Given the description of an element on the screen output the (x, y) to click on. 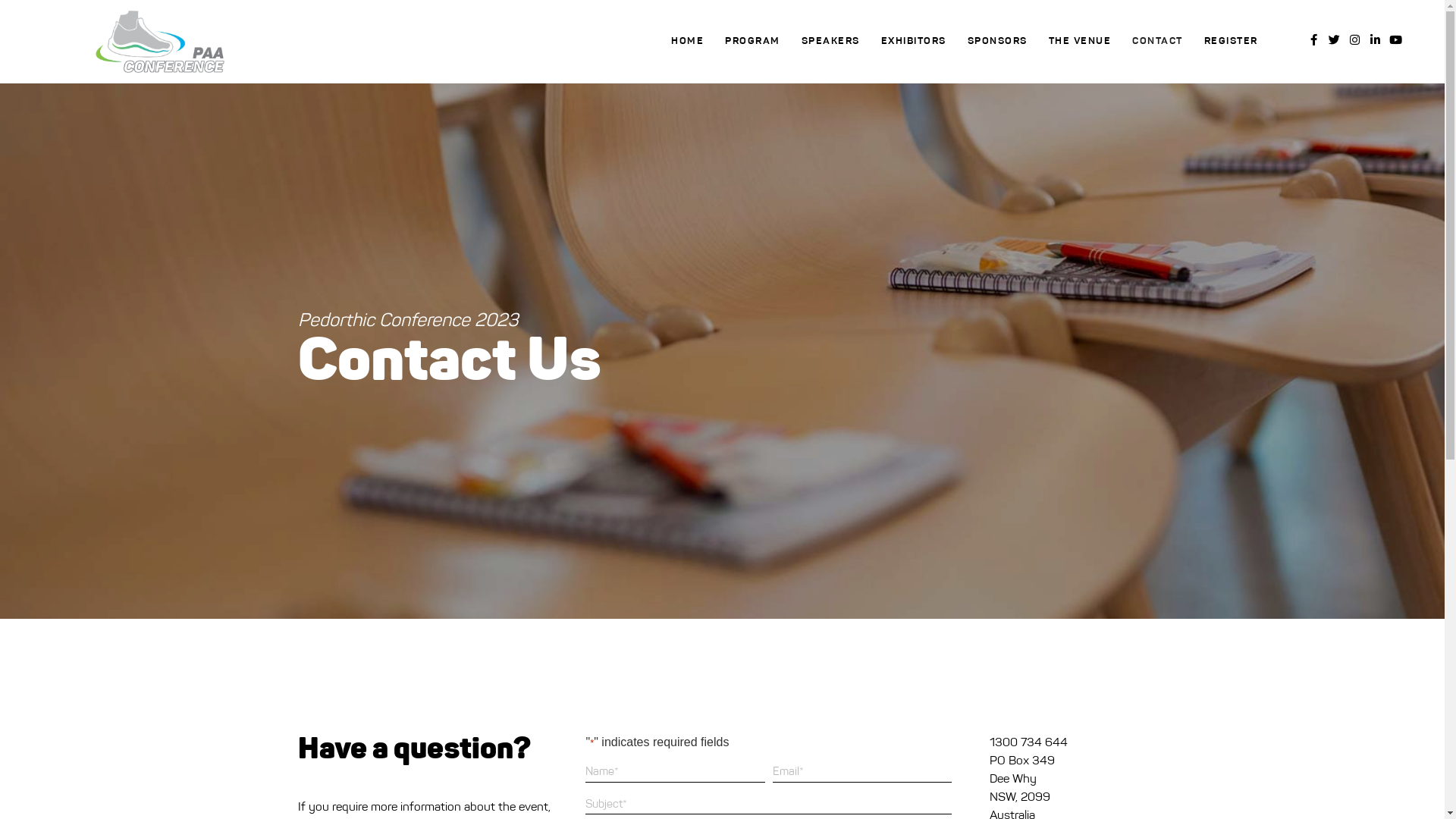
EXHIBITORS Element type: text (913, 41)
SPEAKERS Element type: text (830, 41)
PROGRAM Element type: text (752, 41)
THE VENUE Element type: text (1080, 41)
SPONSORS Element type: text (997, 41)
REGISTER Element type: text (1230, 41)
HOME Element type: text (687, 41)
CONTACT Element type: text (1157, 41)
